Given the description of an element on the screen output the (x, y) to click on. 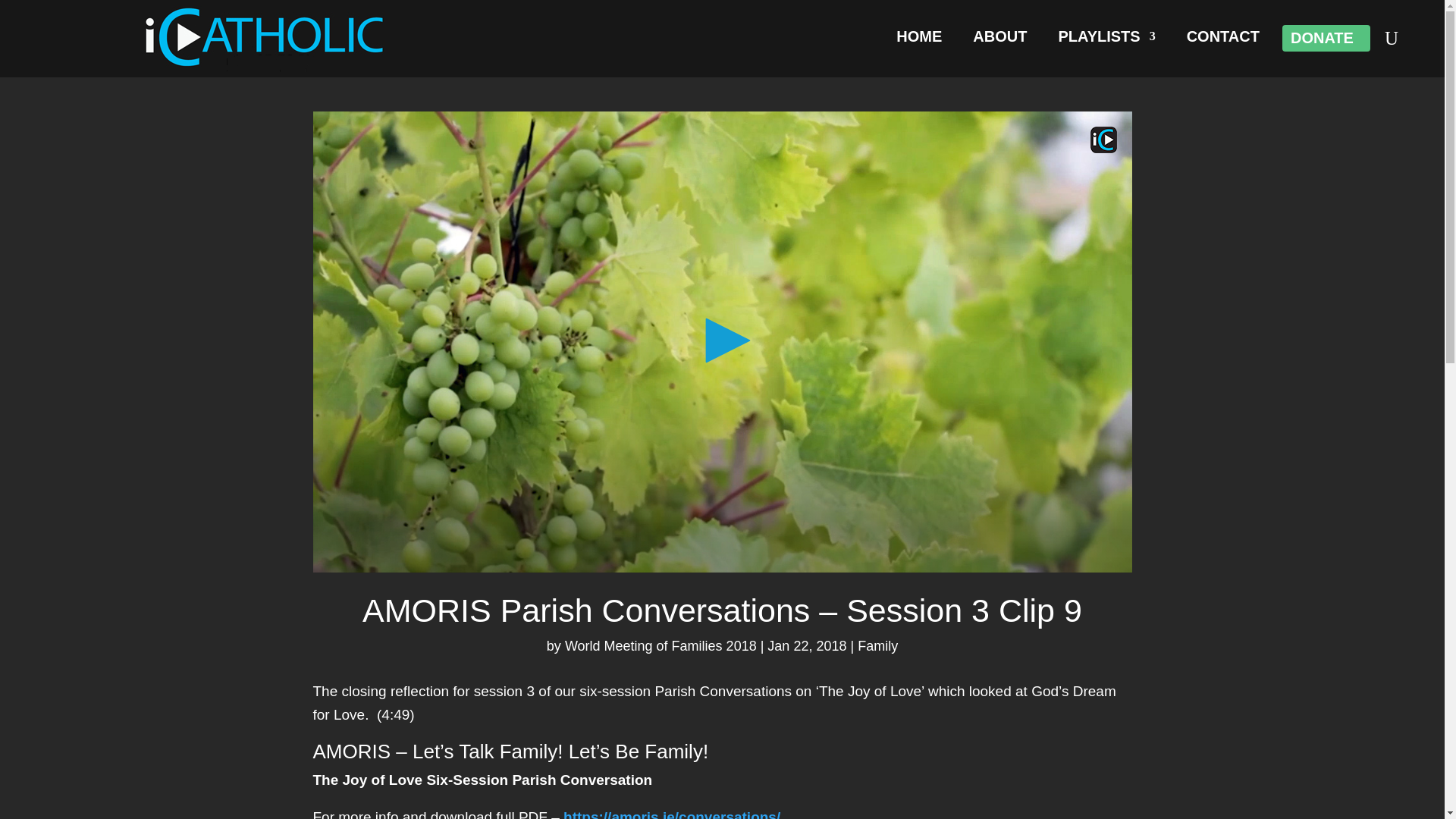
PLAYLISTS (1106, 39)
HOME (919, 39)
DONATE (1322, 40)
ABOUT (999, 39)
Posts by World Meeting of Families 2018 (660, 645)
CONTACT (1222, 39)
iCatholic-logo-2021 (265, 36)
